Given the description of an element on the screen output the (x, y) to click on. 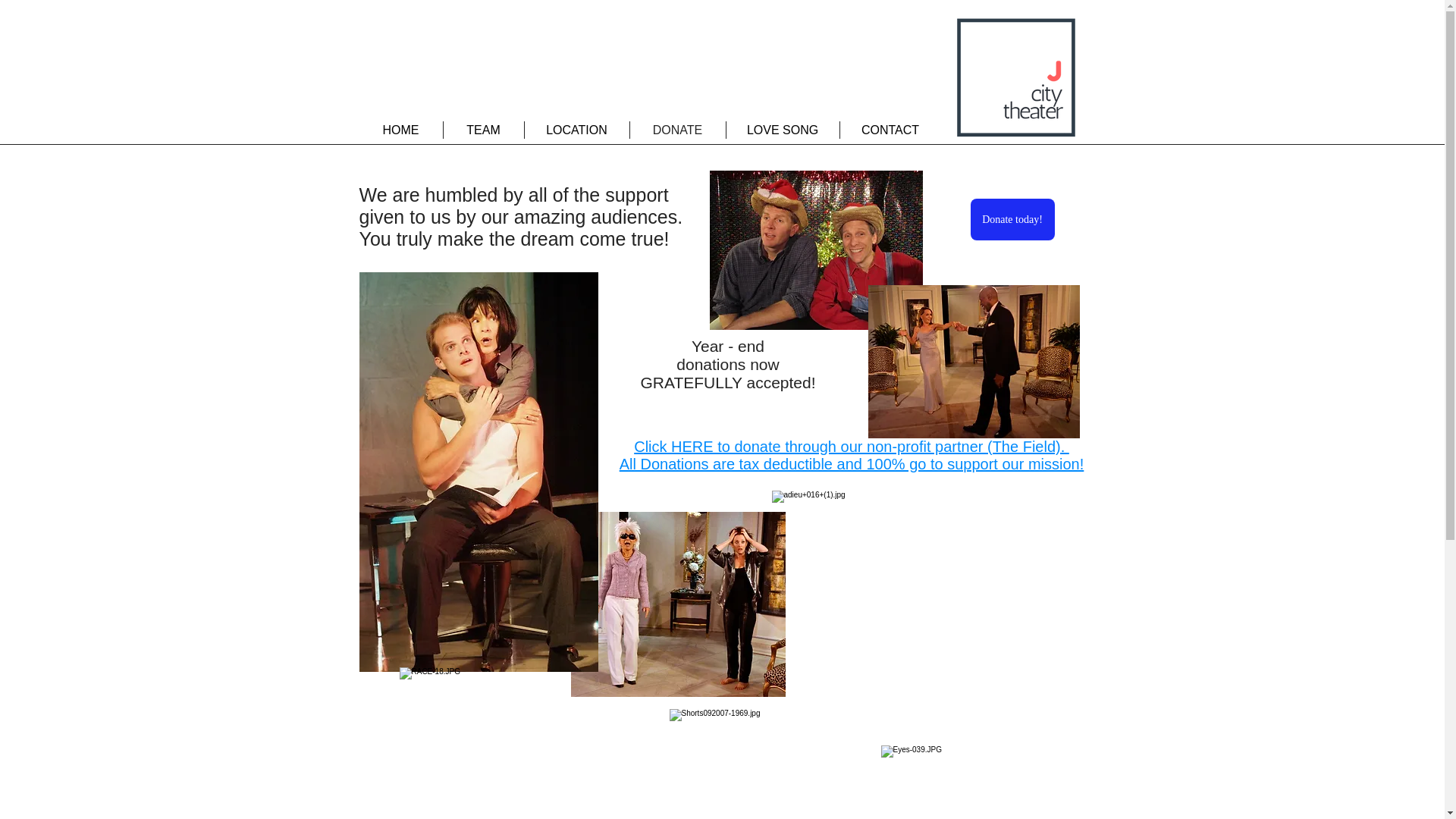
Donate today! (1012, 219)
HOME (400, 129)
CONTACT (890, 129)
DONATE (676, 129)
LOVE SONG (783, 129)
LOCATION (576, 129)
TEAM (482, 129)
